Given the description of an element on the screen output the (x, y) to click on. 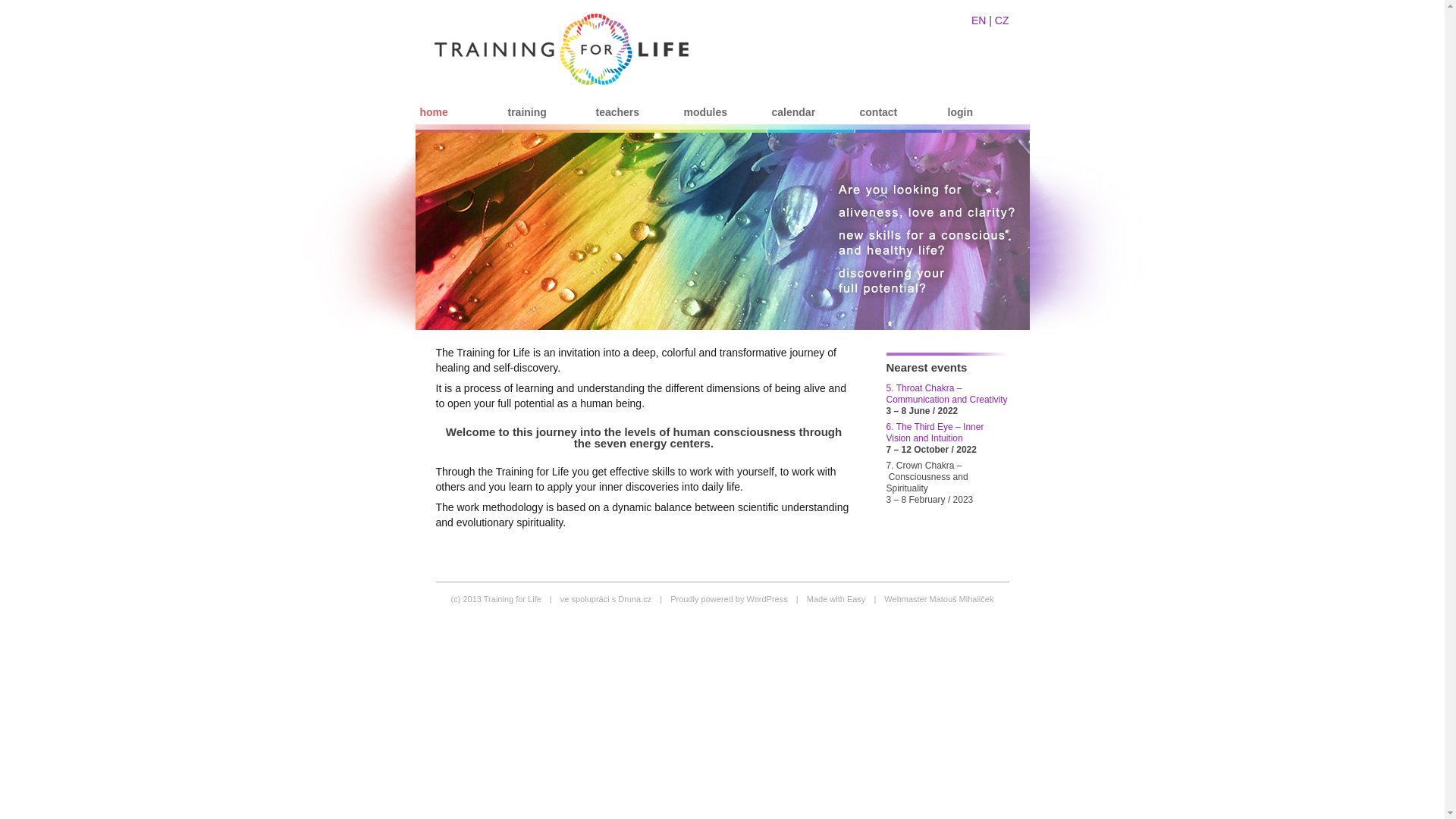
CZ (1001, 20)
Skip to content (450, 129)
modules (703, 111)
calendar (791, 111)
Made with Easy (836, 598)
Easy Framework (836, 598)
Skip to content (450, 129)
Proudly powered by WordPress (728, 598)
training (525, 111)
login (957, 111)
home (431, 111)
Semantic Personal Publishing Platform (728, 598)
teachers (615, 111)
contact (877, 111)
EN (978, 20)
